Given the description of an element on the screen output the (x, y) to click on. 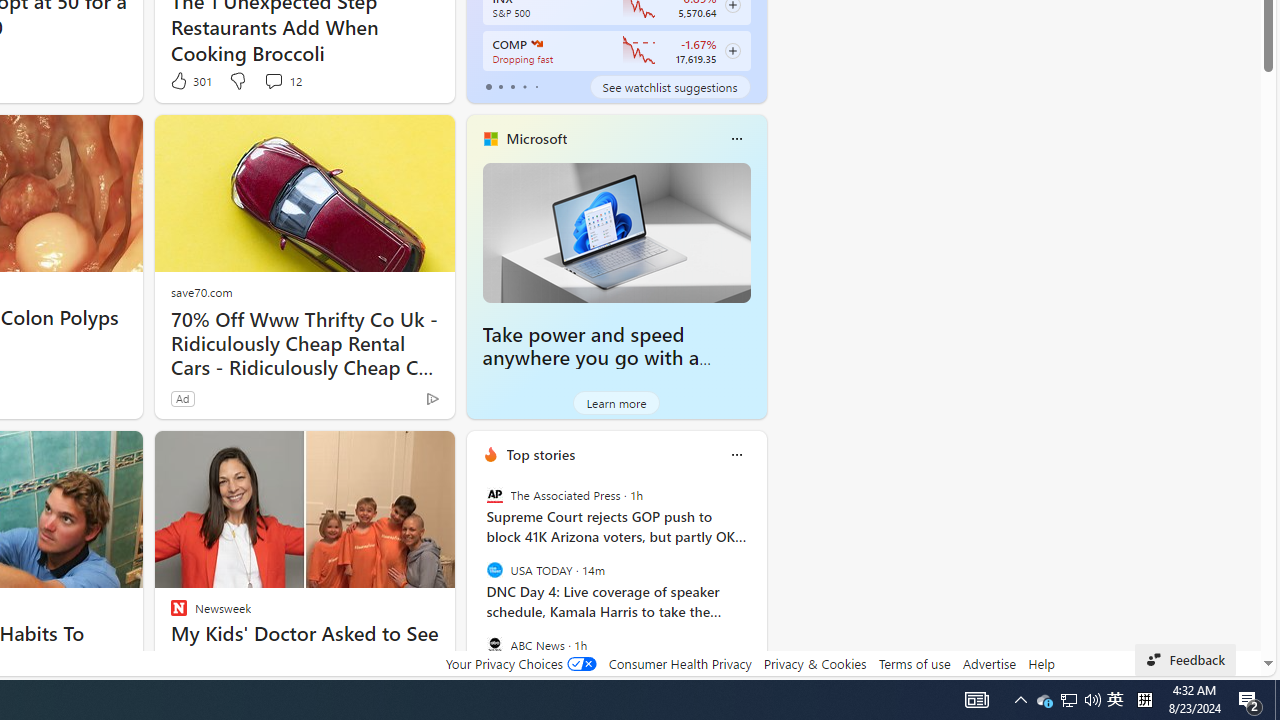
The Associated Press (494, 494)
Take power and speed anywhere you go with a Windows laptop. (616, 232)
save70.com (201, 291)
Take power and speed anywhere you go with a Windows laptop. (591, 357)
Class: icon-img (736, 454)
next (756, 583)
301 Like (190, 80)
previous (476, 583)
